Given the description of an element on the screen output the (x, y) to click on. 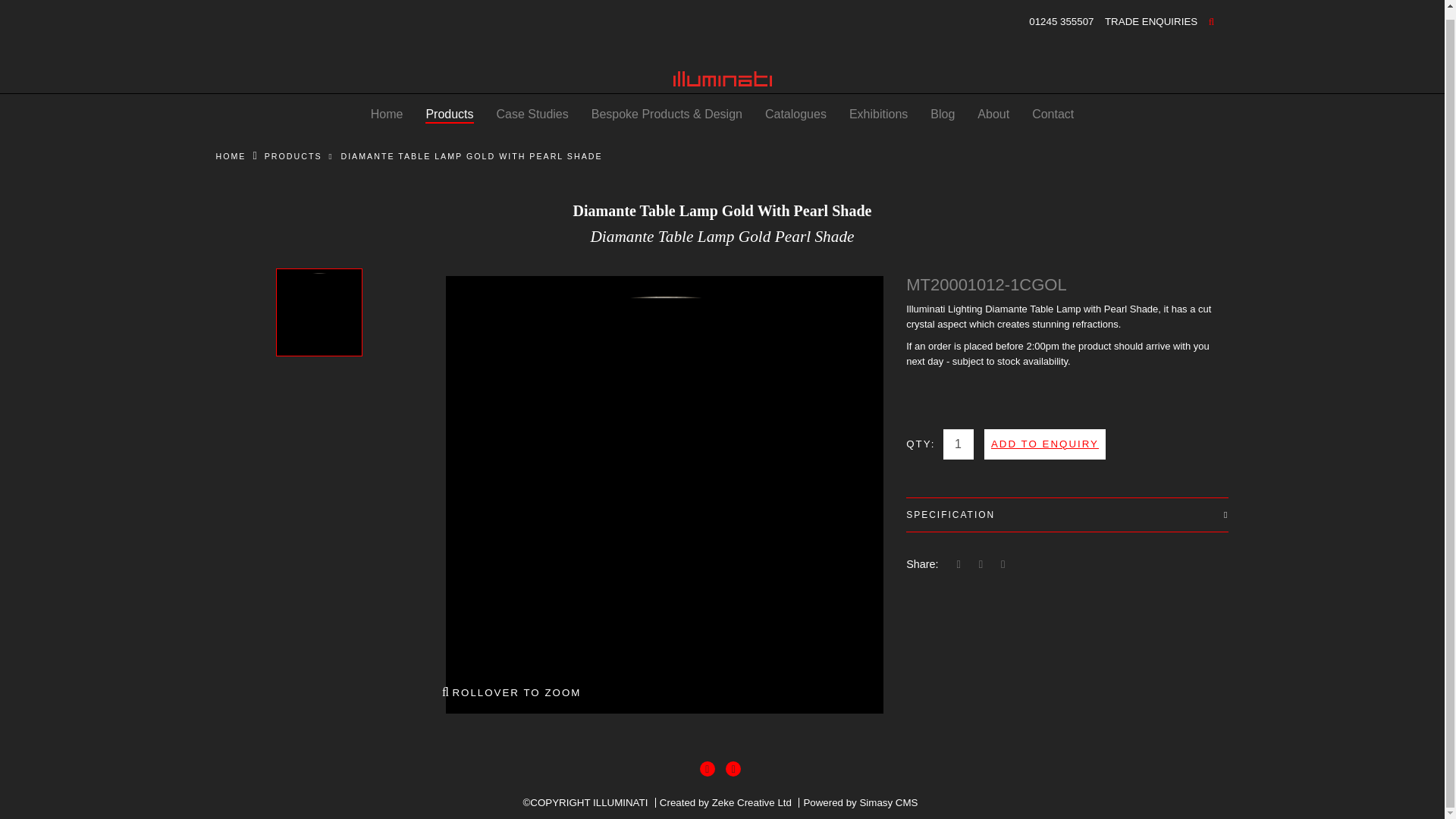
Contact (1053, 114)
Catalogues (796, 114)
Home (387, 114)
Case Studies (532, 114)
PRODUCTS (292, 155)
Add to Cart (1044, 443)
Exhibitions (877, 114)
Add to Enquiry (1044, 443)
About (992, 114)
Blog (942, 114)
